Given the description of an element on the screen output the (x, y) to click on. 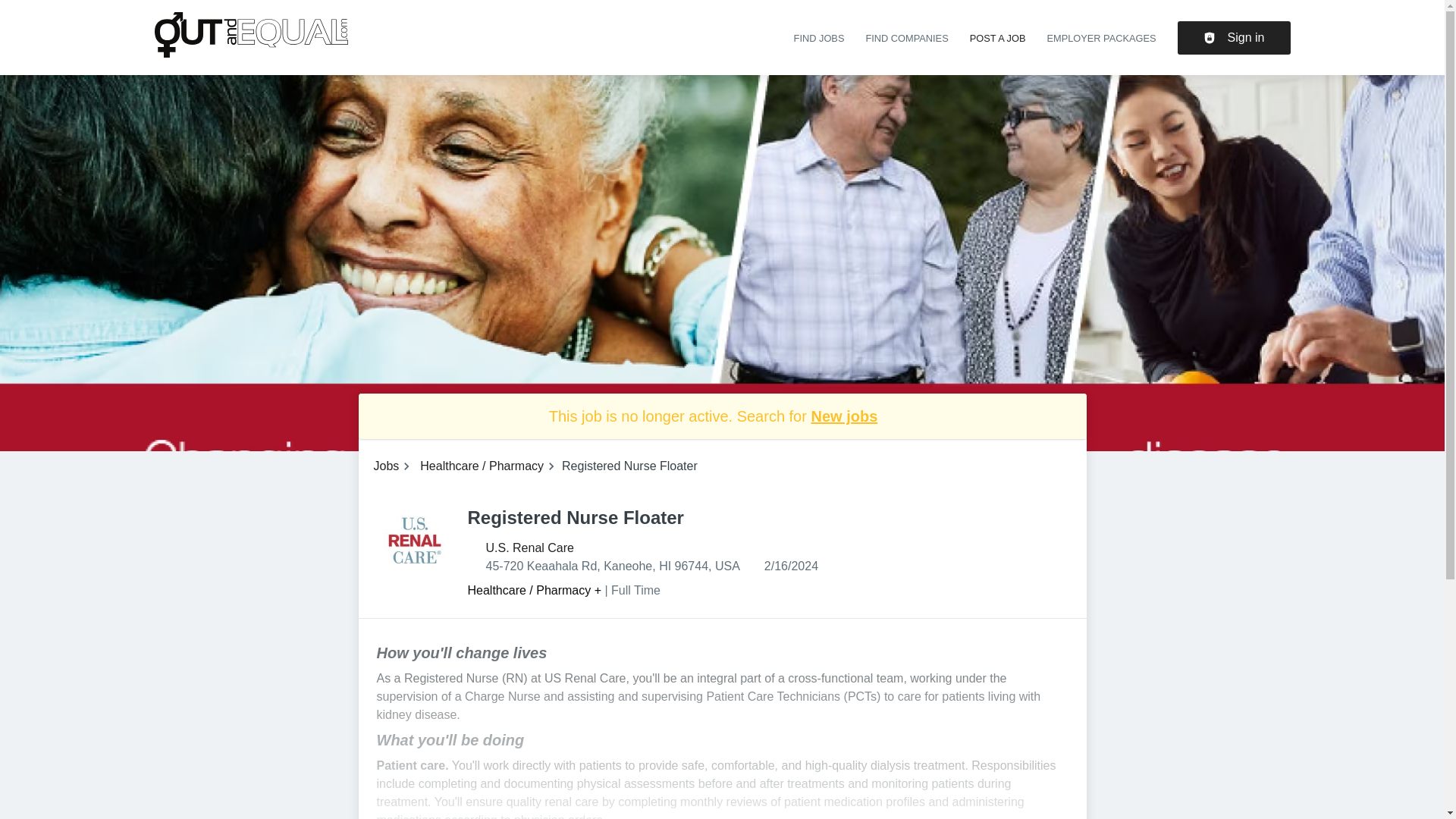
FIND JOBS (818, 37)
U.S. Renal Care (528, 547)
bookmark (742, 517)
Jobs (385, 466)
POST A JOB (997, 37)
Registered Nurse Floater (413, 540)
Sign in (1233, 37)
bookmark (742, 517)
FIND COMPANIES (905, 37)
New jobs (843, 416)
EMPLOYER PACKAGES (1101, 37)
